Given the description of an element on the screen output the (x, y) to click on. 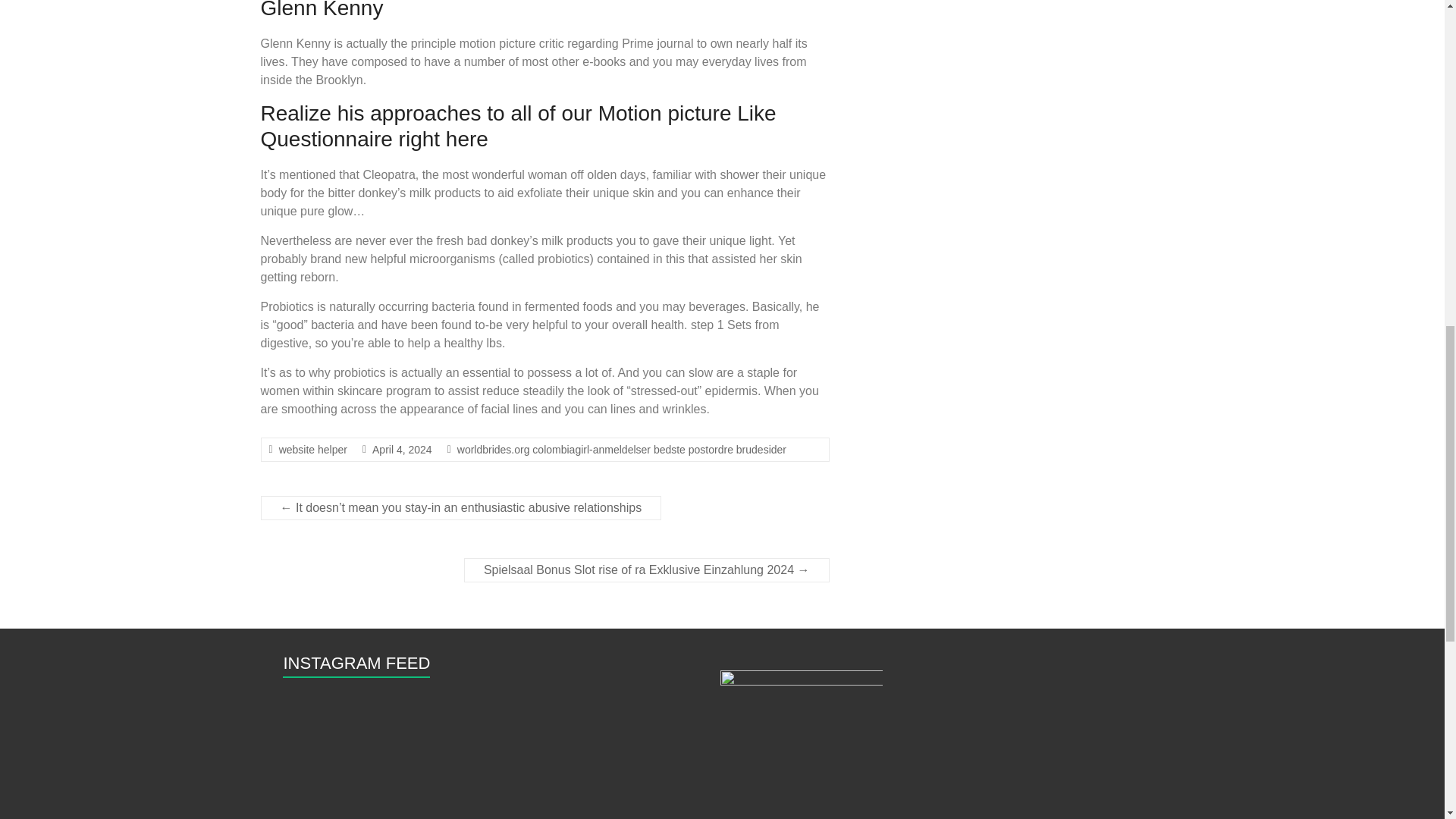
website helper (313, 449)
10:05 am (402, 449)
April 4, 2024 (402, 449)
